Given the description of an element on the screen output the (x, y) to click on. 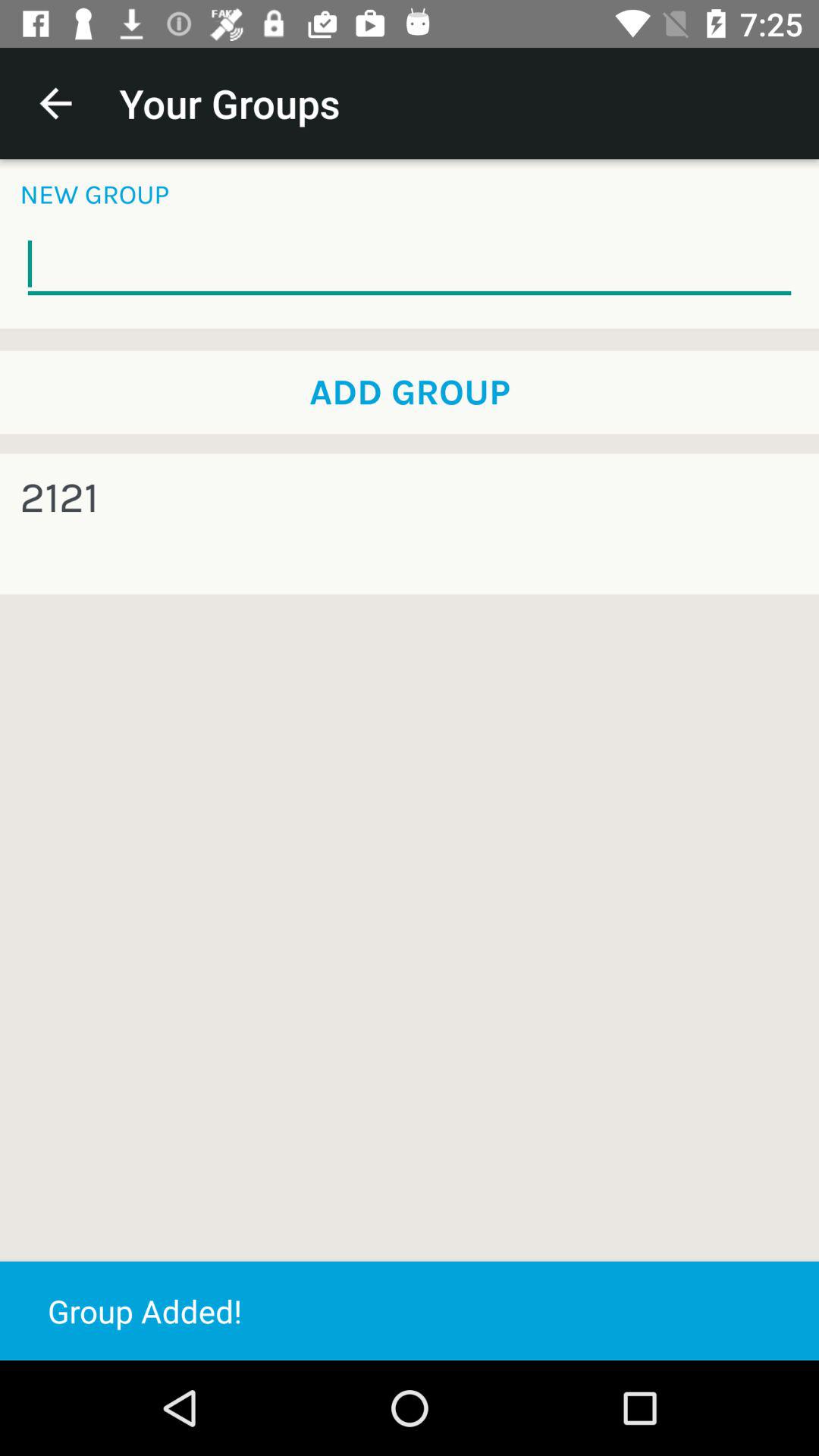
press the item below the new group item (409, 264)
